Given the description of an element on the screen output the (x, y) to click on. 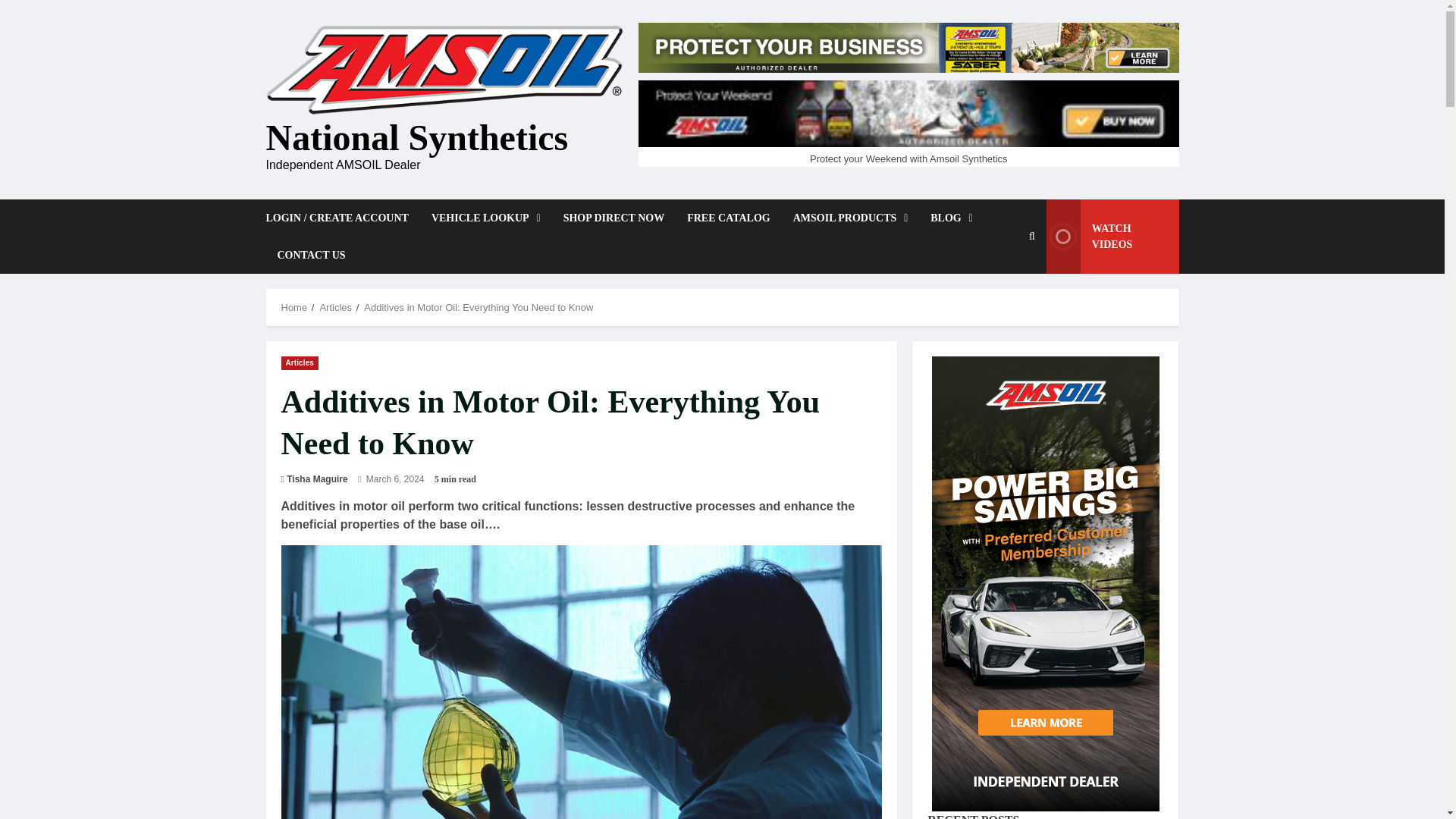
Articles (335, 307)
BLOG (951, 217)
Search (996, 314)
National Synthetics (415, 137)
Home (294, 307)
Articles (299, 363)
SHOP DIRECT NOW (614, 217)
Tisha Maguire (316, 479)
Additives in Motor Oil: Everything You Need to Know (478, 307)
VEHICLE LOOKUP (485, 217)
CONTACT US (304, 254)
WATCH VIDEOS (1112, 236)
FREE CATALOG (728, 217)
AMSOIL PRODUCTS (850, 217)
